Given the description of an element on the screen output the (x, y) to click on. 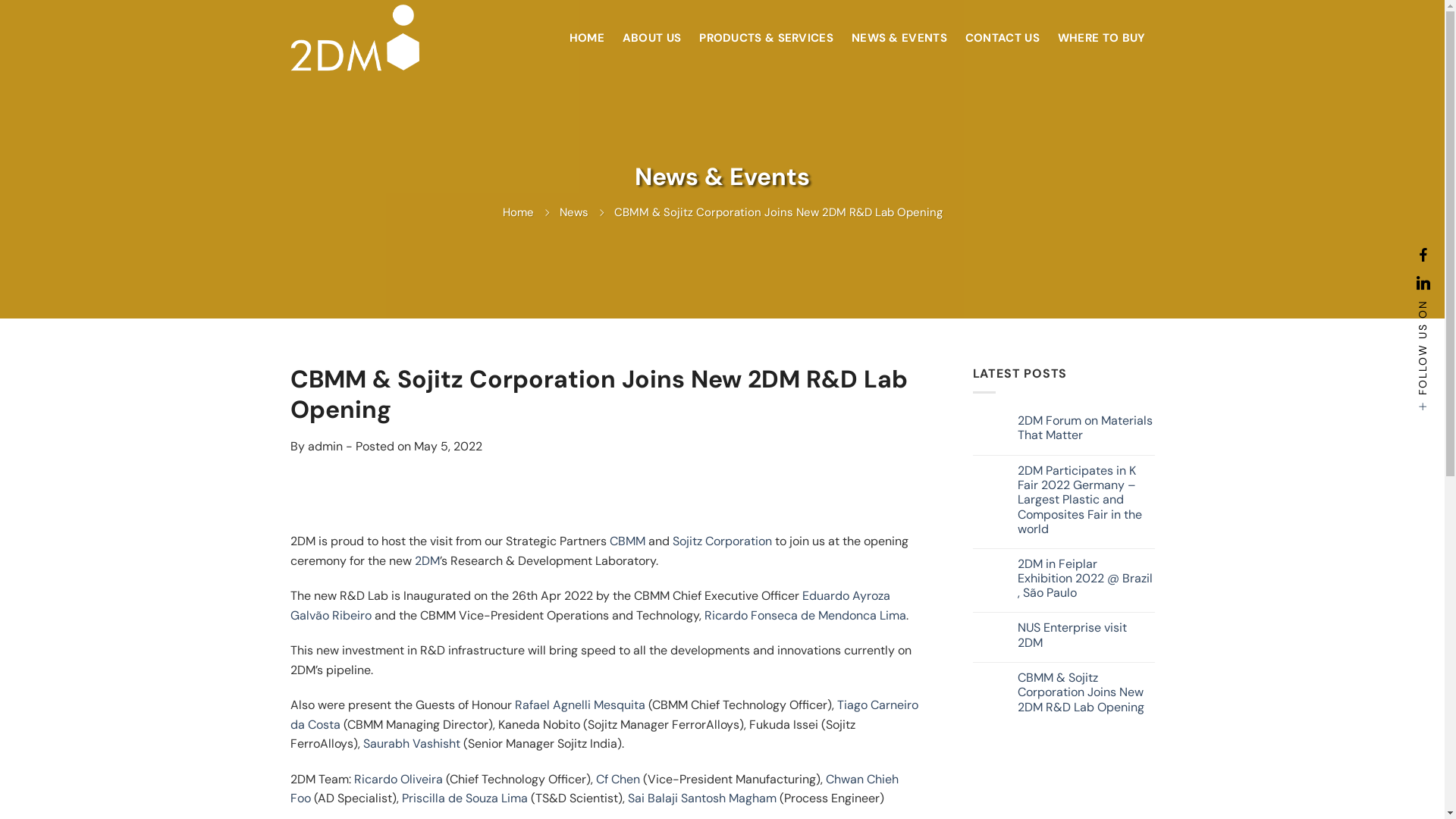
CBMM Element type: text (627, 541)
Rafael Agnelli Mesquita Element type: text (579, 704)
2DM Forum on Materials That Matter Element type: text (1085, 427)
Priscilla de Souza Lima Element type: text (464, 798)
CONTACT US Element type: text (1002, 37)
News Element type: text (573, 211)
Ricardo Oliveira Element type: text (397, 779)
FOLLOW US ON Element type: text (1422, 355)
NUS Enterprise visit 2DM Element type: text (1085, 634)
Cf Chen Element type: text (618, 779)
Saurabh Vashisht Element type: text (410, 743)
ABOUT US Element type: text (651, 37)
HOME Element type: text (586, 37)
WHERE TO BUY Element type: text (1101, 37)
Sai Balaji Santosh Magham Element type: text (701, 798)
Chwan Chieh Foo Element type: text (593, 788)
2DM Solutions Element type: hover (365, 37)
Home Element type: text (517, 211)
Tiago Carneiro da Costa Element type: text (603, 714)
Ricardo Fonseca de Mendonca Lima Element type: text (804, 615)
CBMM & Sojitz Corporation Joins New 2DM R&D Lab Opening Element type: text (1085, 692)
Sojitz Corporation Element type: text (721, 541)
2DM Element type: text (426, 560)
PRODUCTS & SERVICES Element type: text (766, 37)
NEWS & EVENTS Element type: text (899, 37)
